Given the description of an element on the screen output the (x, y) to click on. 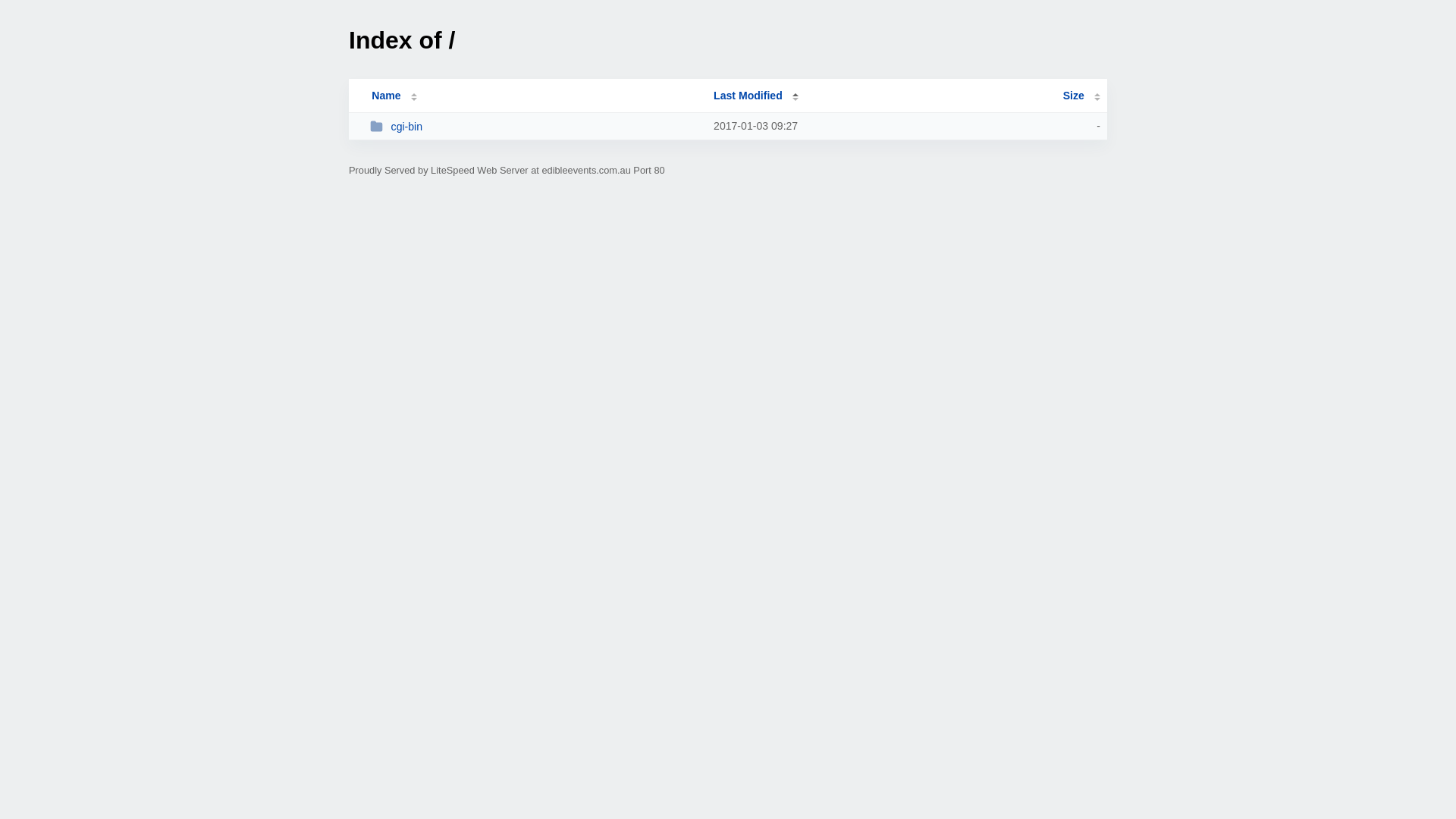
Name Element type: text (385, 95)
Last Modified Element type: text (755, 95)
cgi-bin Element type: text (534, 125)
Size Element type: text (1081, 95)
